Given the description of an element on the screen output the (x, y) to click on. 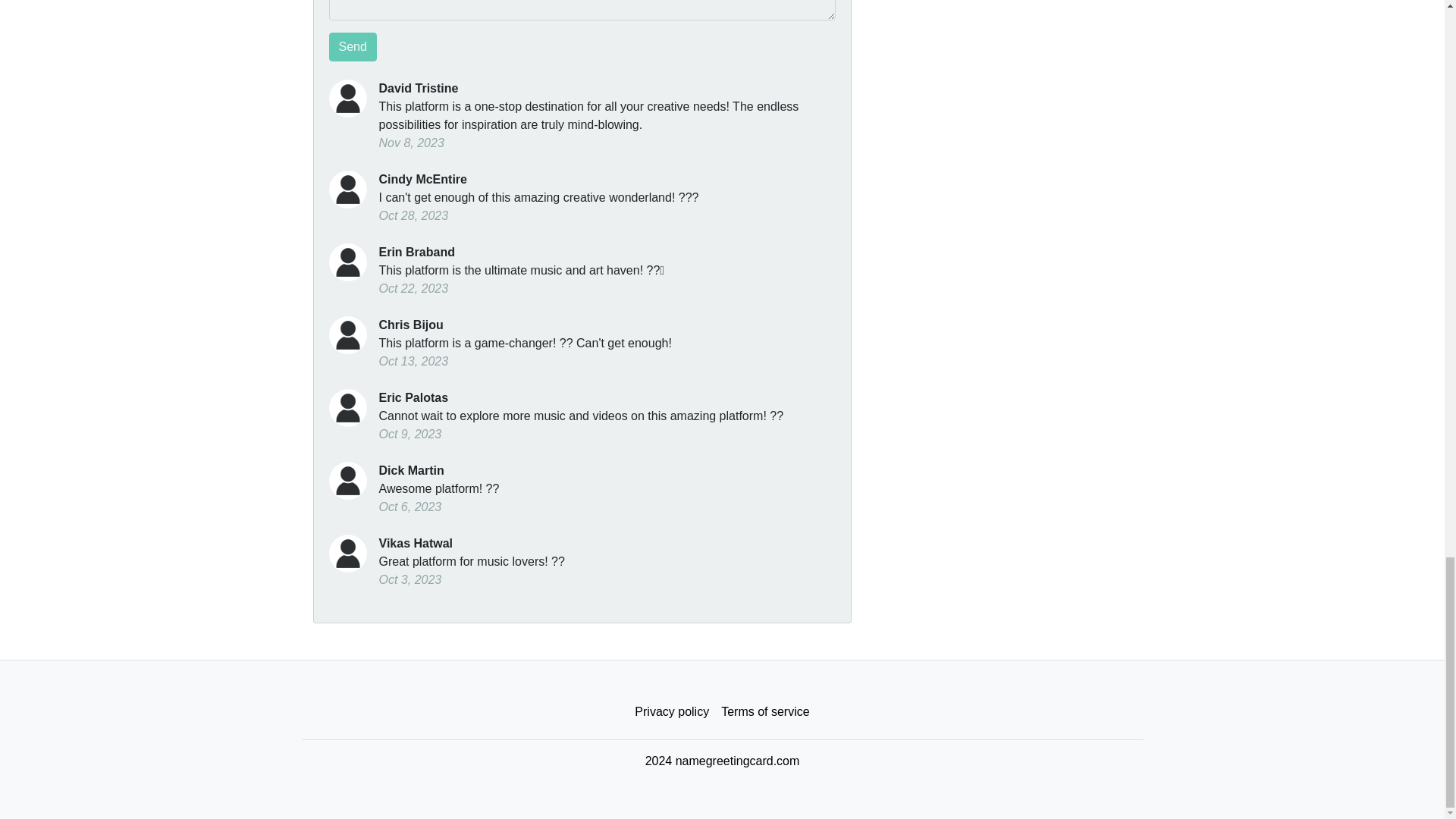
Privacy policy (671, 711)
Send (353, 46)
Send (353, 46)
Terms of service (764, 711)
